Given the description of an element on the screen output the (x, y) to click on. 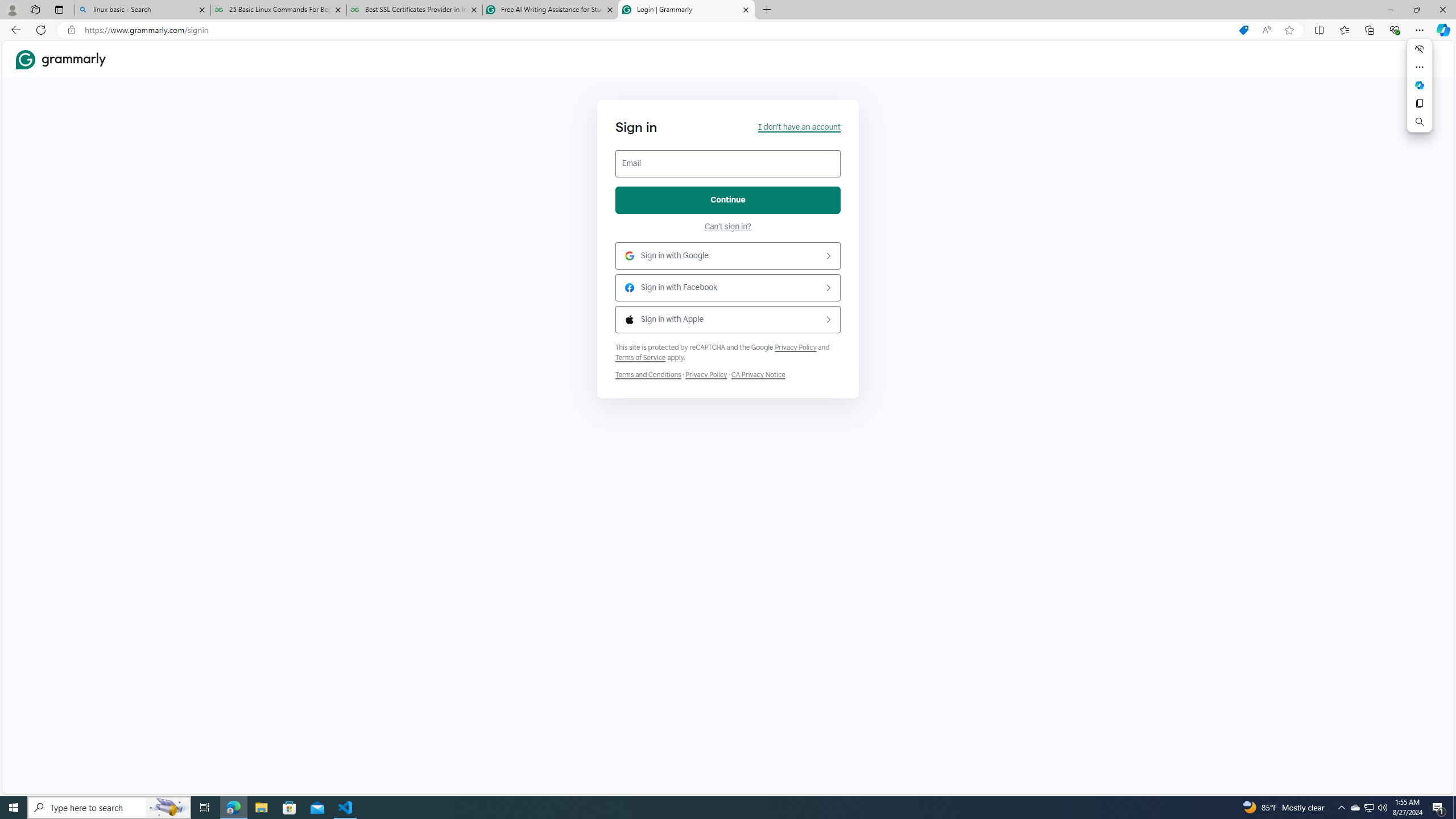
More actions (1419, 67)
Grammarly Privacy Policy (757, 374)
Sign in with Google (727, 255)
Sign in with Google (727, 255)
Best SSL Certificates Provider in India - GeeksforGeeks (414, 9)
Mini menu on text selection (1419, 84)
